Given the description of an element on the screen output the (x, y) to click on. 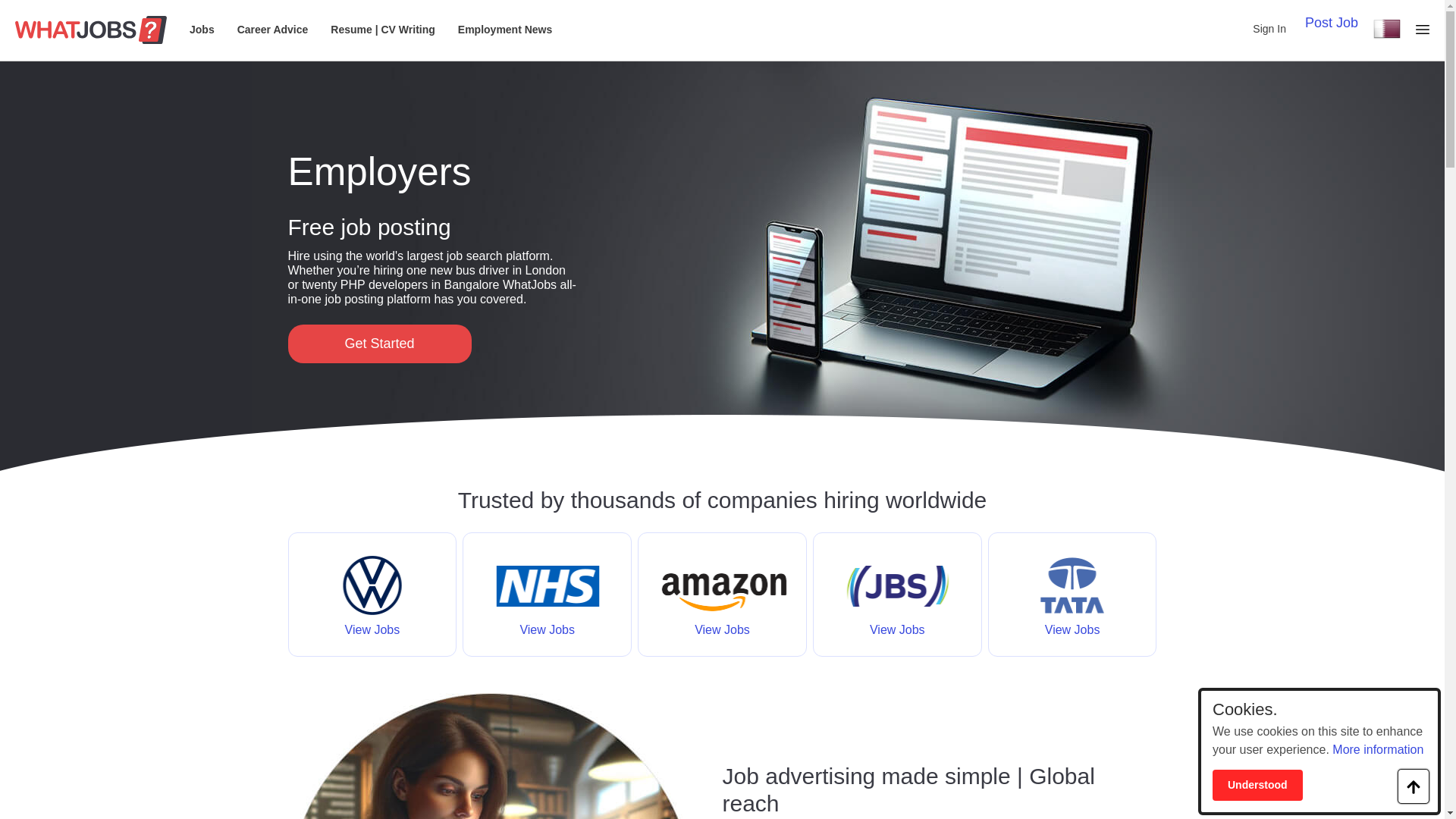
Whatjobs? Jobs in the Qatar (90, 29)
Sign In (1268, 28)
Tata Logo WhatJobs (1072, 607)
Qatar (1386, 27)
Jobs (201, 29)
Career Advice (272, 29)
Post Job (1331, 23)
Employment News (504, 29)
NHS Logo WhatJobs (546, 607)
JBS logo WhatJobs (897, 607)
